Given the description of an element on the screen output the (x, y) to click on. 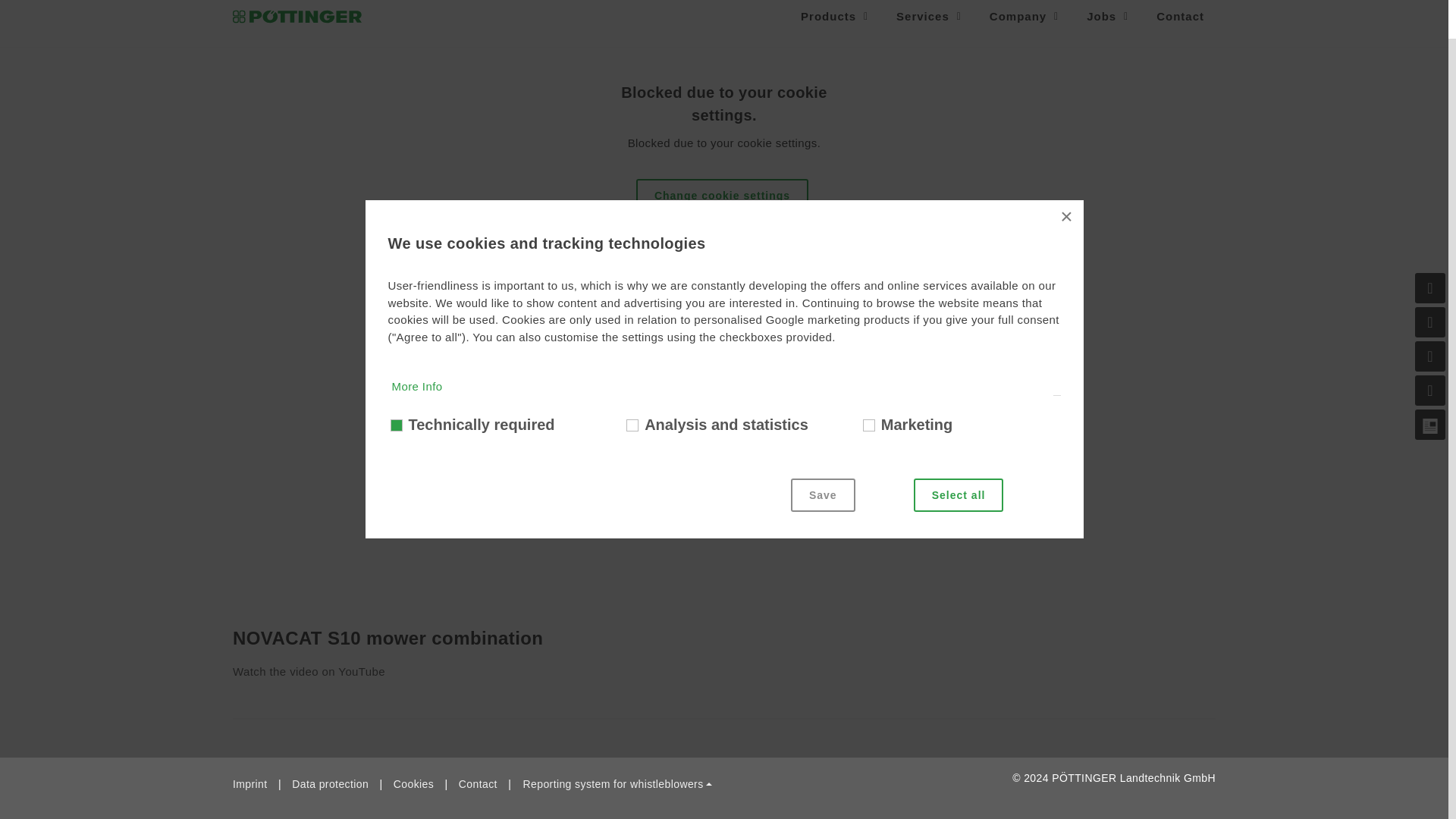
More Info (437, 714)
Select all (959, 494)
More Info (437, 534)
More Info (416, 386)
Save (823, 494)
Products (836, 23)
